Given the description of an element on the screen output the (x, y) to click on. 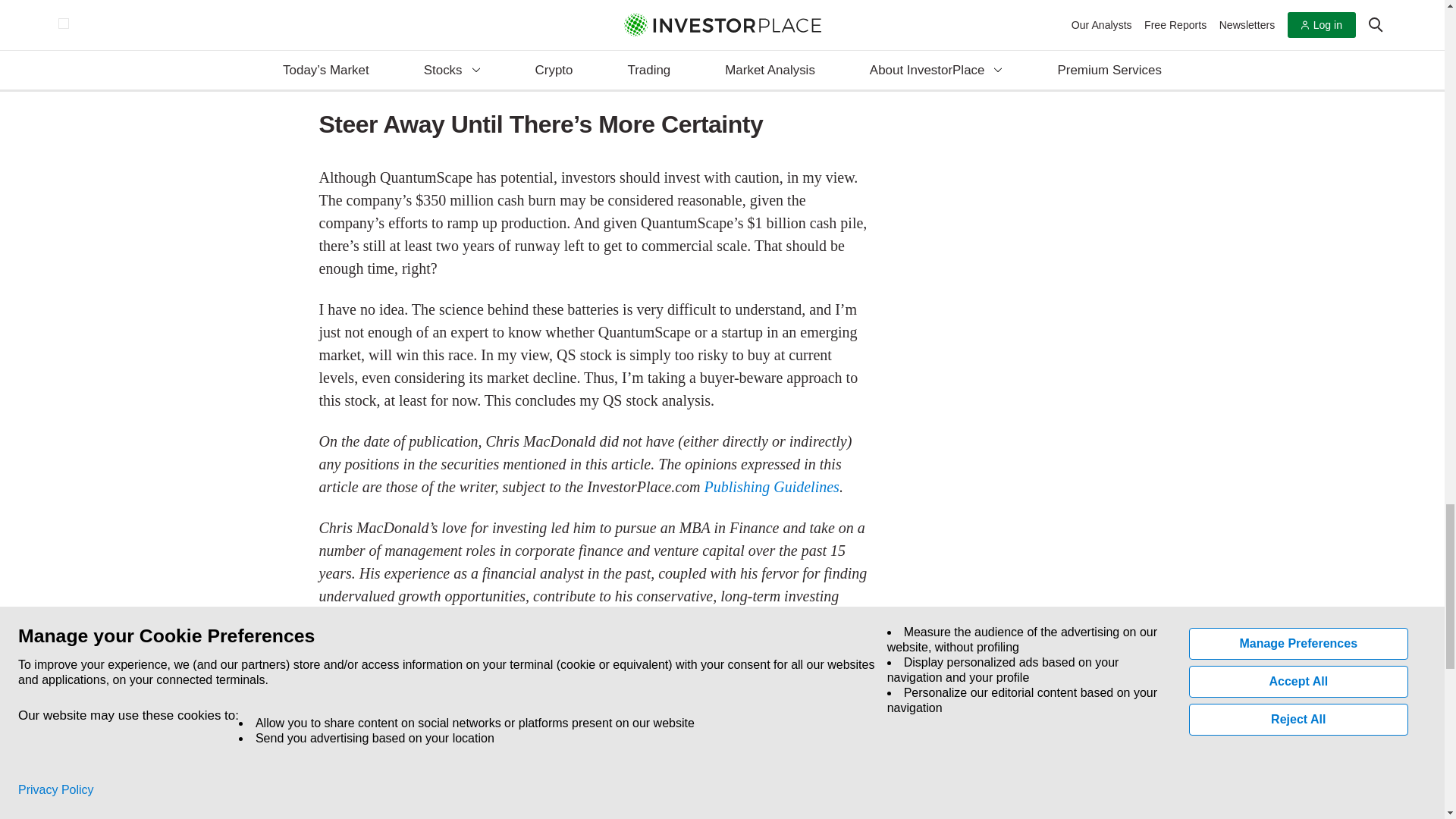
Articles from Growth Stocks stock type (363, 700)
Articles from Battery industry (512, 659)
Articles from Renewable Energy industry (426, 659)
Articles from Energy industry (339, 659)
